Given the description of an element on the screen output the (x, y) to click on. 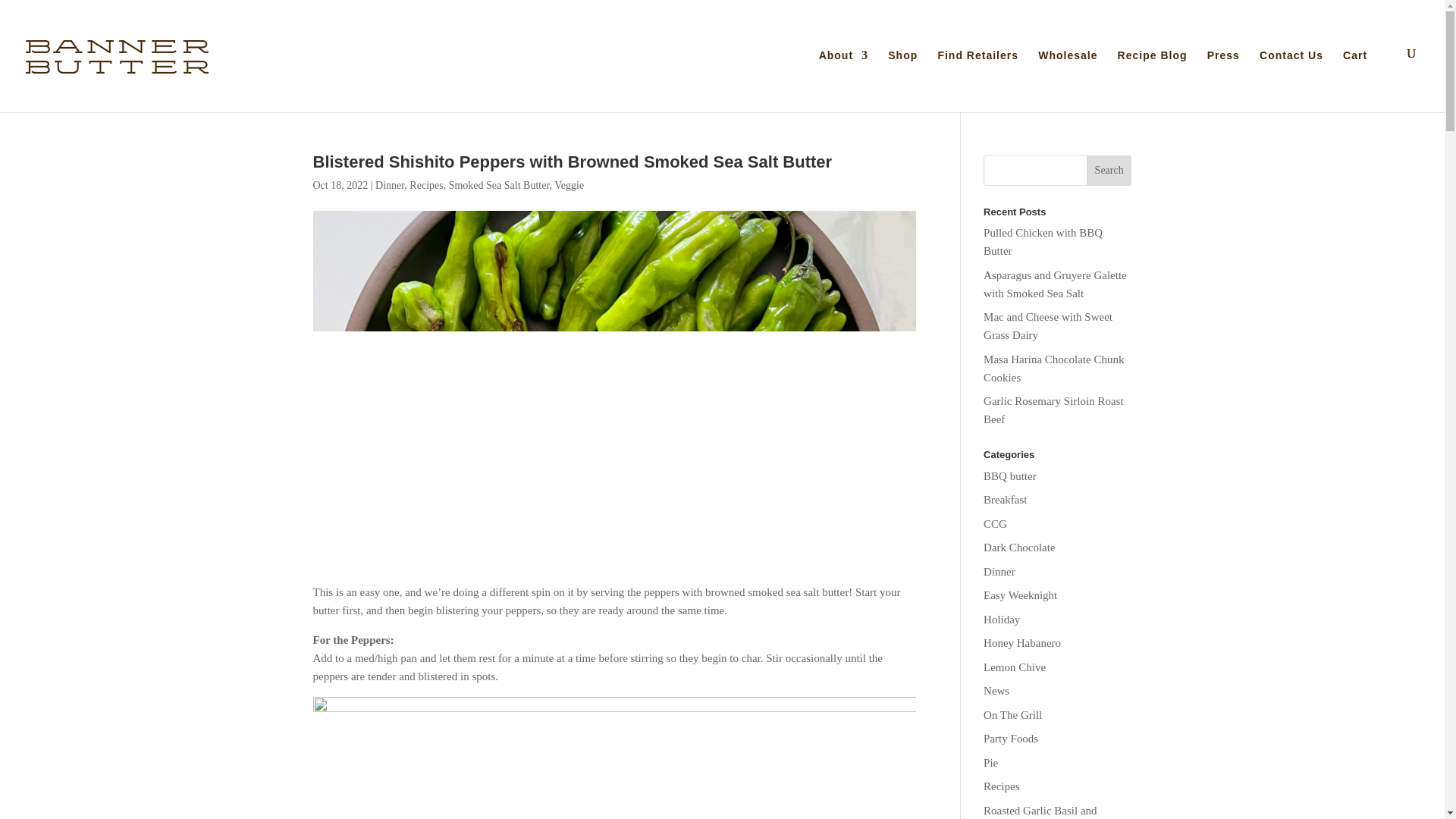
Easy Weeknight (1020, 594)
Asparagus and Gruyere Galette with Smoked Sea Salt (1055, 284)
Recipes (425, 184)
Search (1109, 170)
Smoked Sea Salt Butter (499, 184)
Dinner (999, 571)
Veggie (568, 184)
Mac and Cheese with Sweet Grass Dairy (1048, 326)
BBQ butter (1010, 476)
CCG (995, 523)
Holiday (1002, 619)
Search (1109, 170)
Recipe Blog (1153, 78)
Dinner (389, 184)
Dark Chocolate (1019, 547)
